Given the description of an element on the screen output the (x, y) to click on. 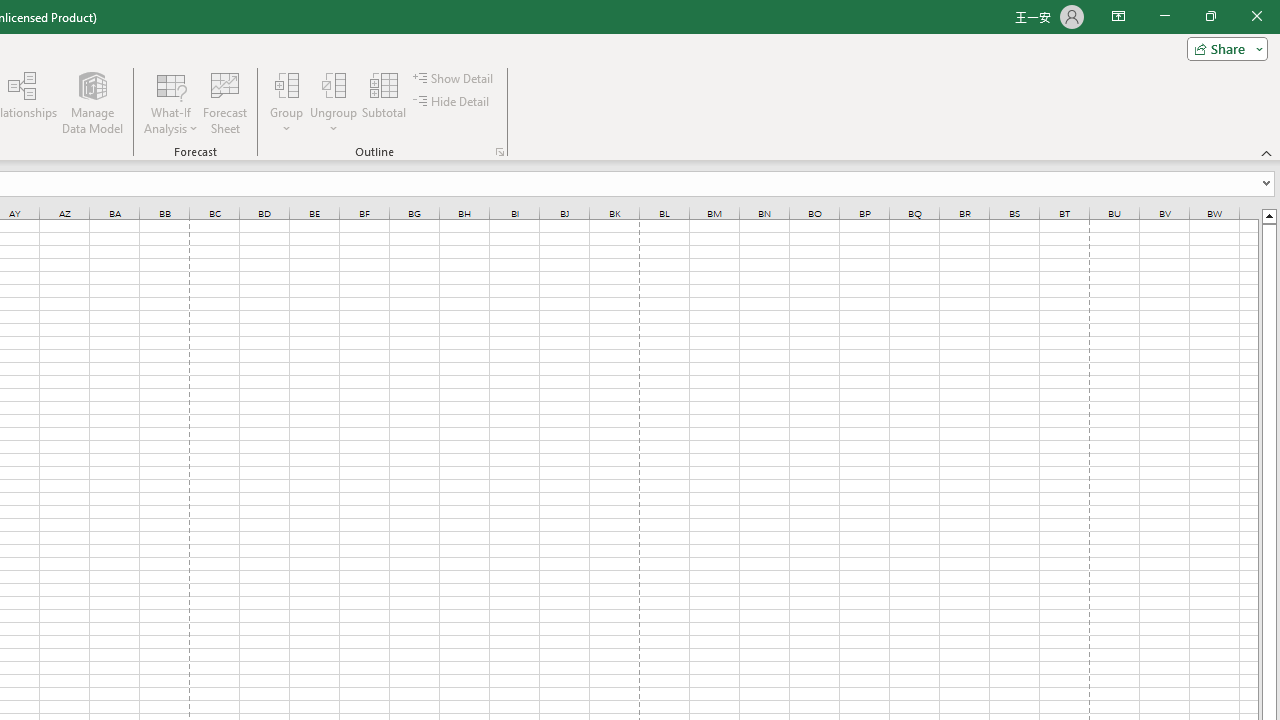
Forecast Sheet (224, 102)
Group and Outline Settings (499, 151)
What-If Analysis (171, 102)
Manage Data Model (92, 102)
Show Detail (454, 78)
